Given the description of an element on the screen output the (x, y) to click on. 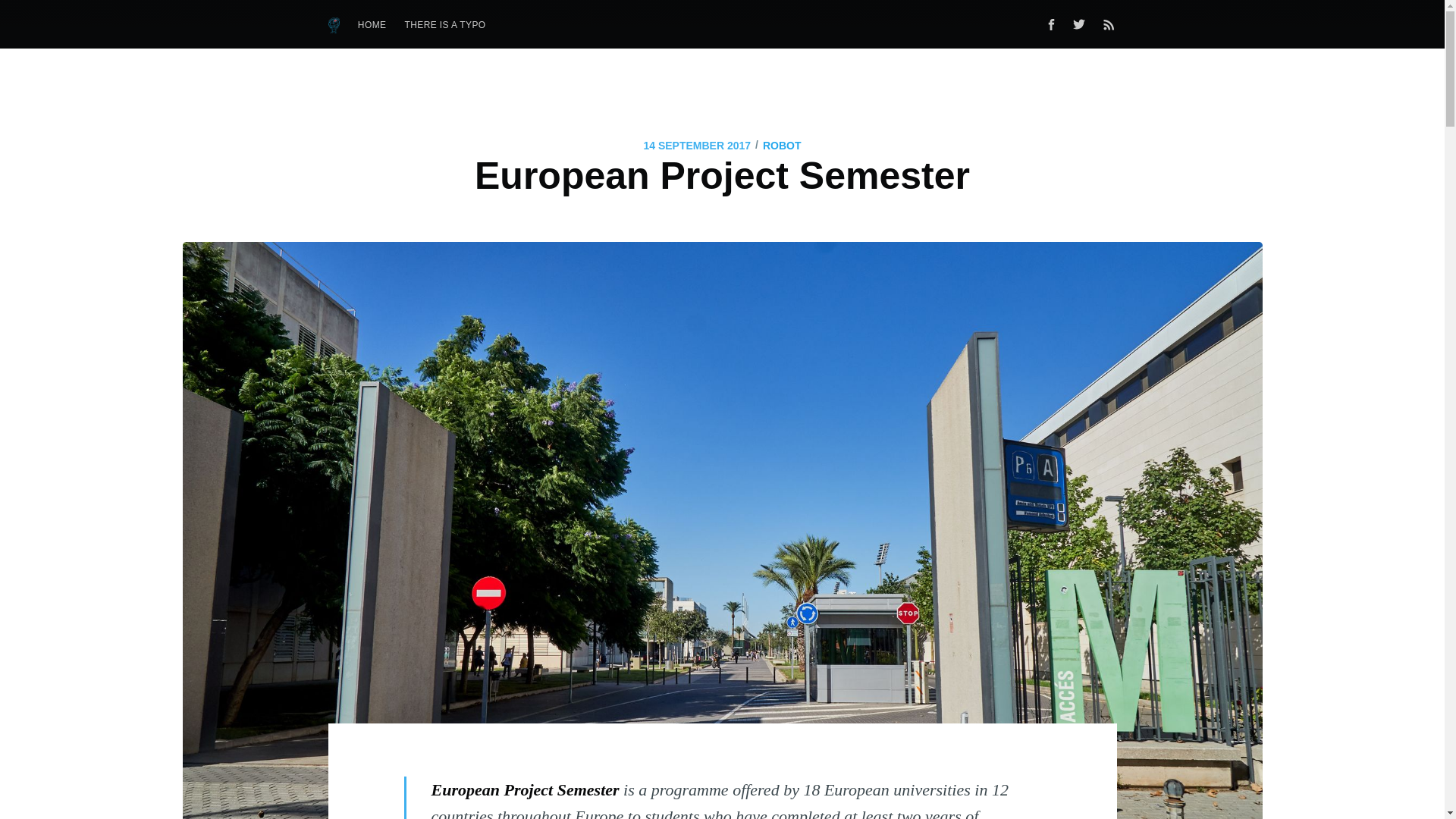
THERE IS A TYPO (444, 25)
Facebook (1050, 23)
HOME (372, 25)
Twitter (1082, 23)
ROBOT (782, 145)
